Given the description of an element on the screen output the (x, y) to click on. 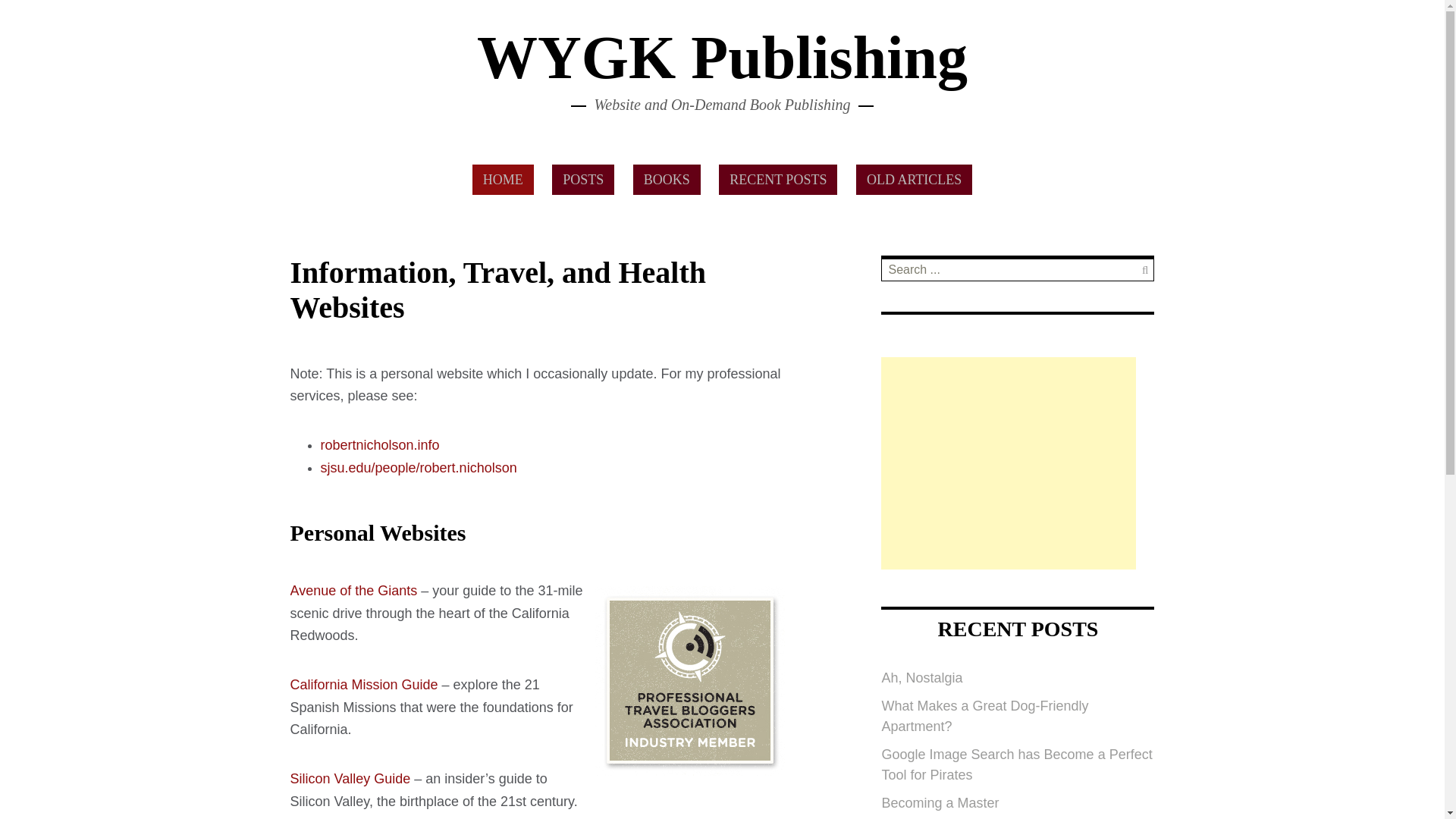
Becoming a Master (939, 802)
HOME (502, 179)
OLD ARTICLES (914, 179)
POSTS (582, 179)
Ah, Nostalgia (921, 677)
California Mission Guide (363, 684)
Avenue of the Giants (352, 590)
California Mission Guide (363, 684)
Silicon Valley Guide (349, 778)
BOOKS (666, 179)
Google Image Search has Become a Perfect Tool for Pirates (1015, 764)
WYGK Publishing (722, 57)
What Makes a Great Dog-Friendly Apartment? (983, 715)
Silicon Valley Guide (349, 778)
Advertisement (1007, 463)
